Given the description of an element on the screen output the (x, y) to click on. 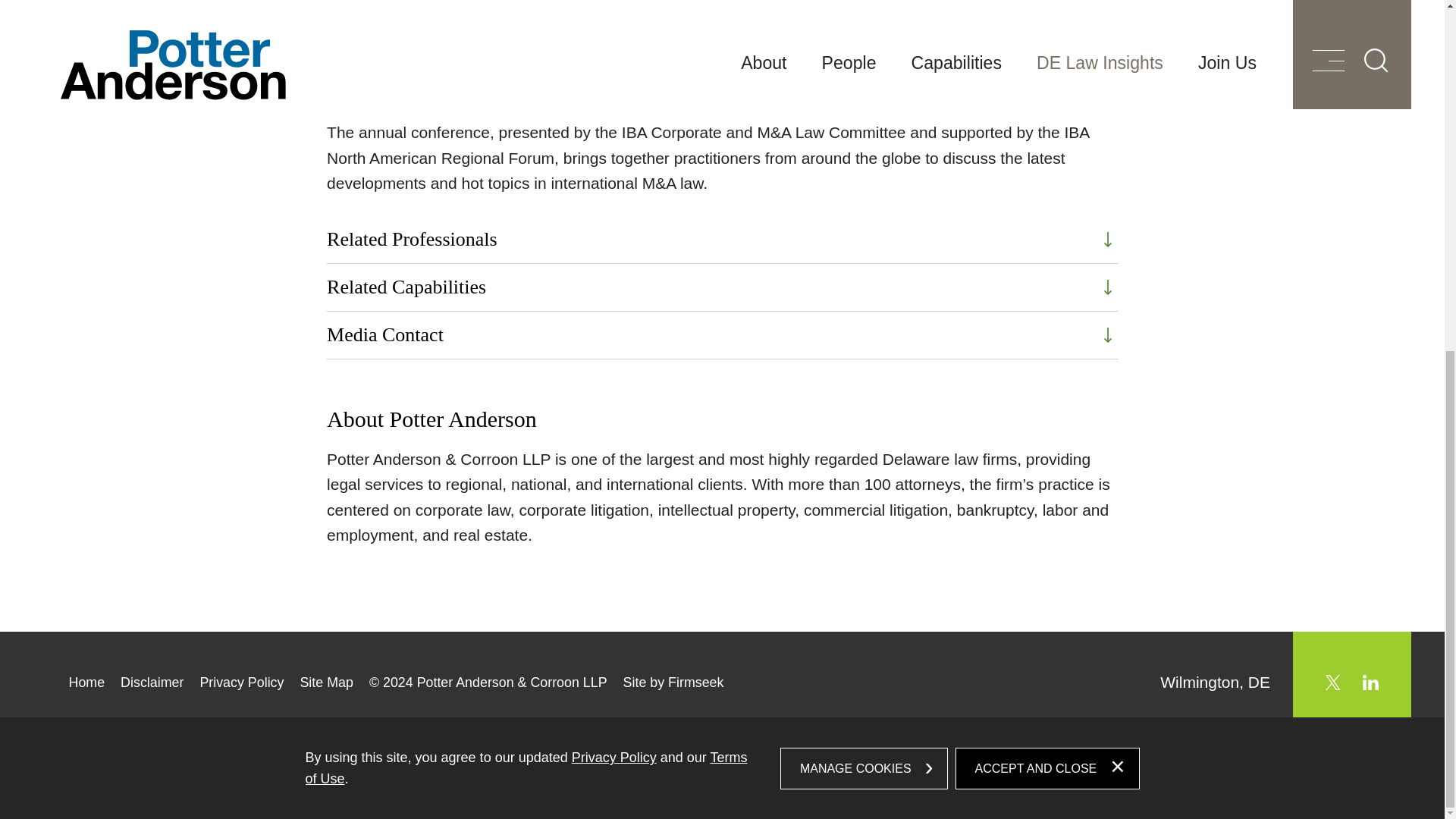
Linkedin (1370, 681)
